Given the description of an element on the screen output the (x, y) to click on. 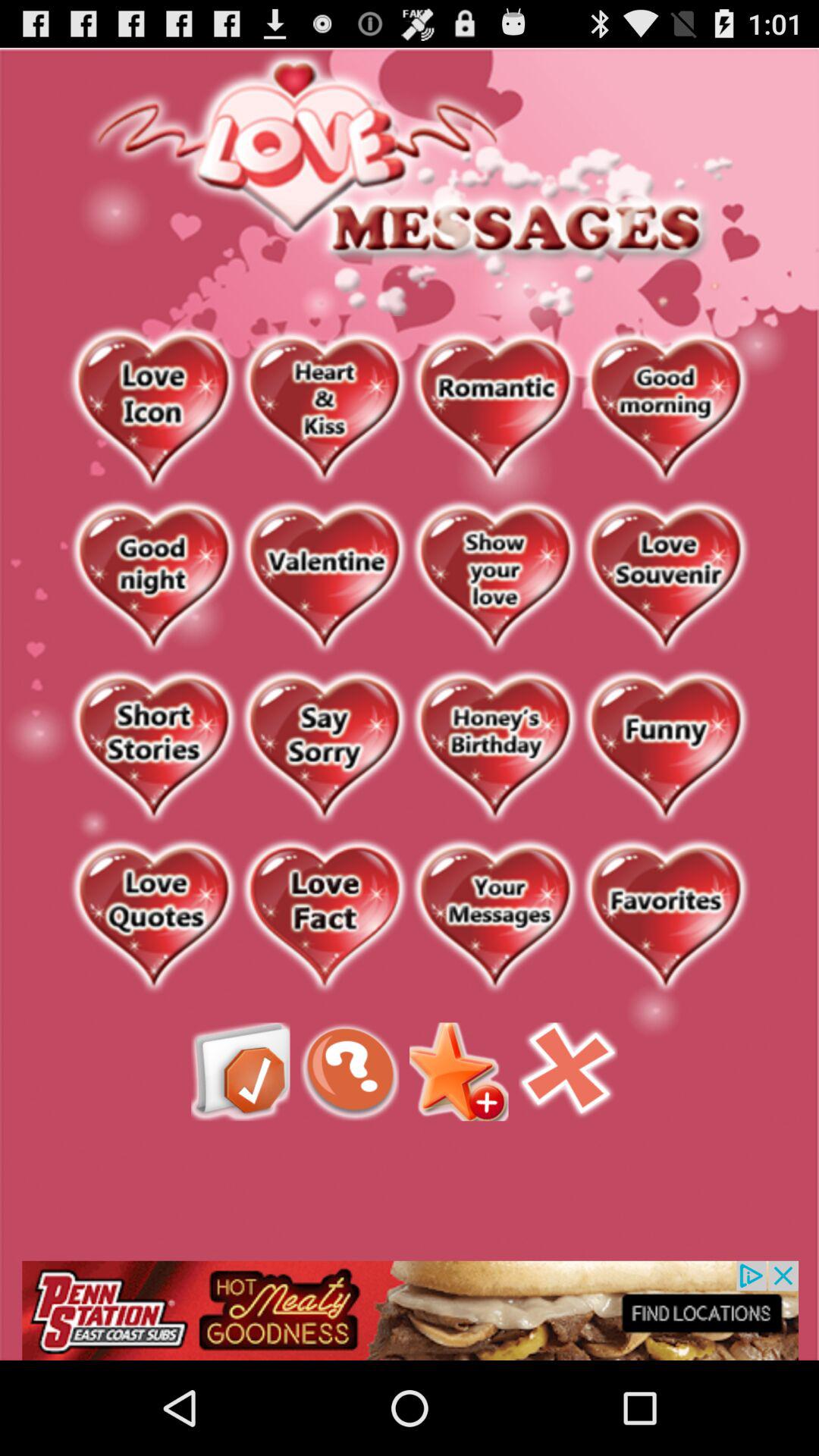
favorited (665, 917)
